Given the description of an element on the screen output the (x, y) to click on. 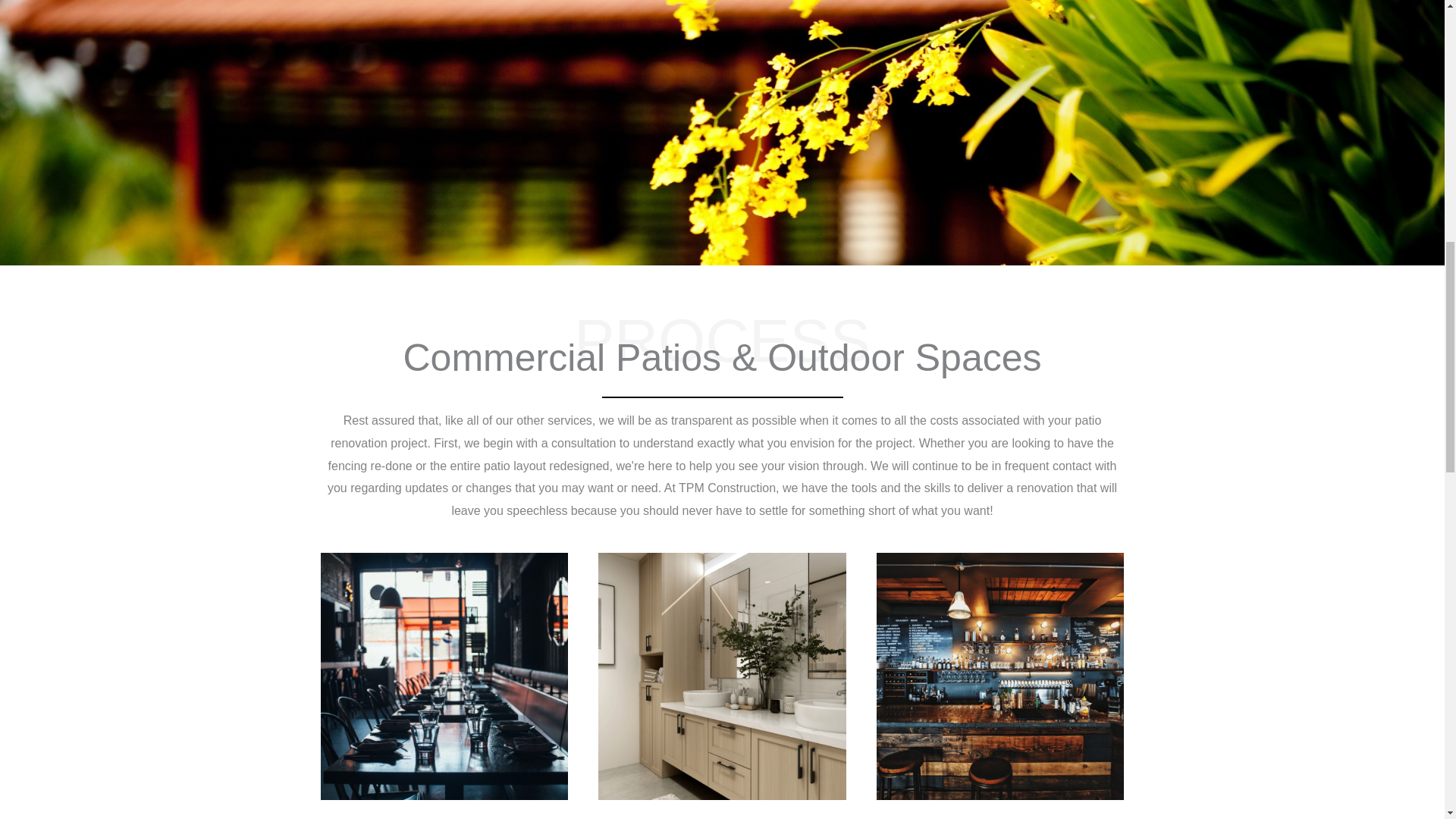
Restaurant Bathroom Minimal (721, 676)
Rustic Restaurant (443, 676)
Traditional style restaurant reno (1000, 676)
